Given the description of an element on the screen output the (x, y) to click on. 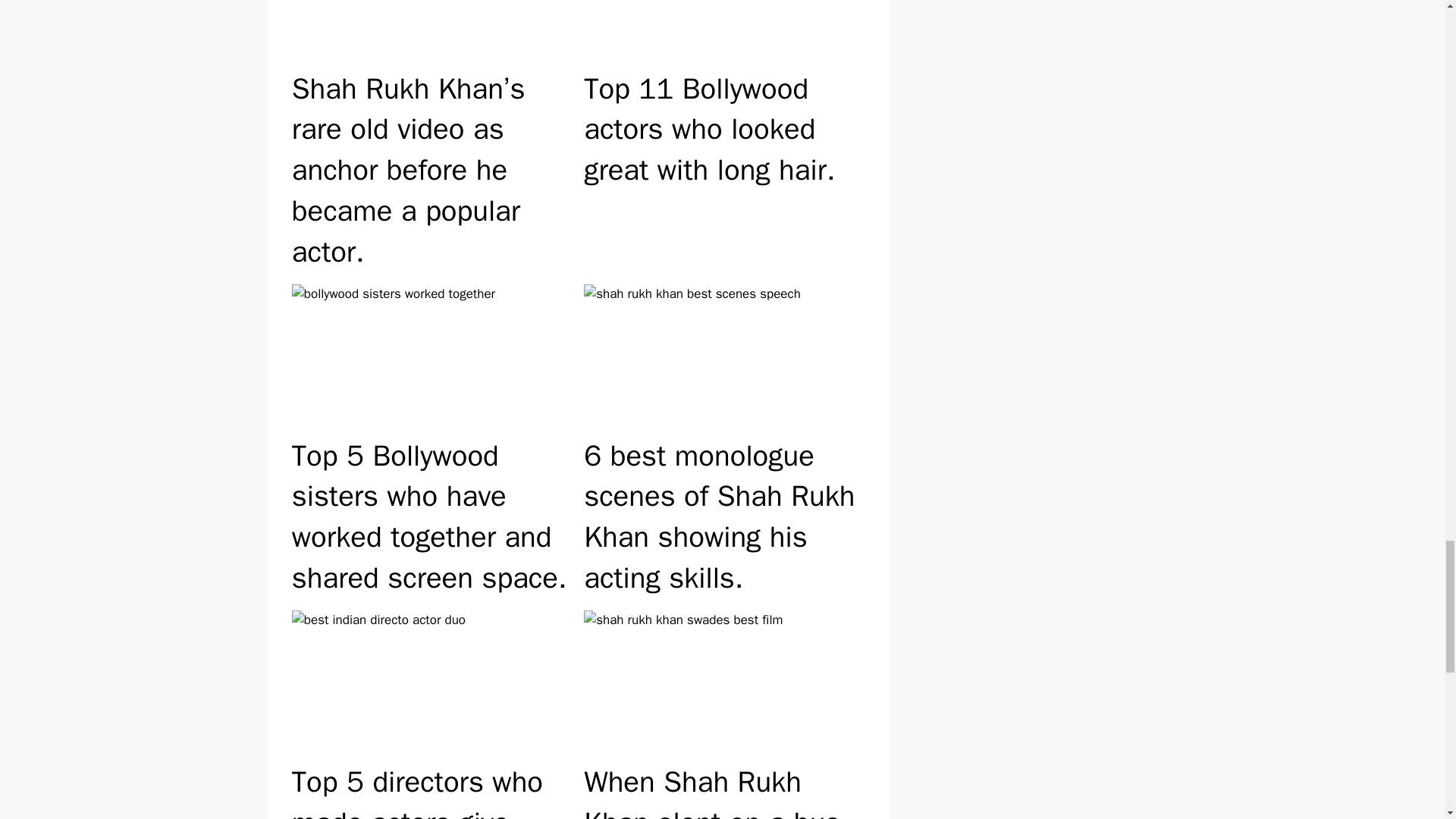
bollywood actor long hair style (723, 32)
Top 11 Bollywood actors who looked great with long hair. (723, 139)
Top 11 Bollywood actors who looked great with long hair. (723, 139)
When Shah Rukh Khan slept on a bus floor. (723, 711)
shah rukh khan rare old video (432, 32)
